Given the description of an element on the screen output the (x, y) to click on. 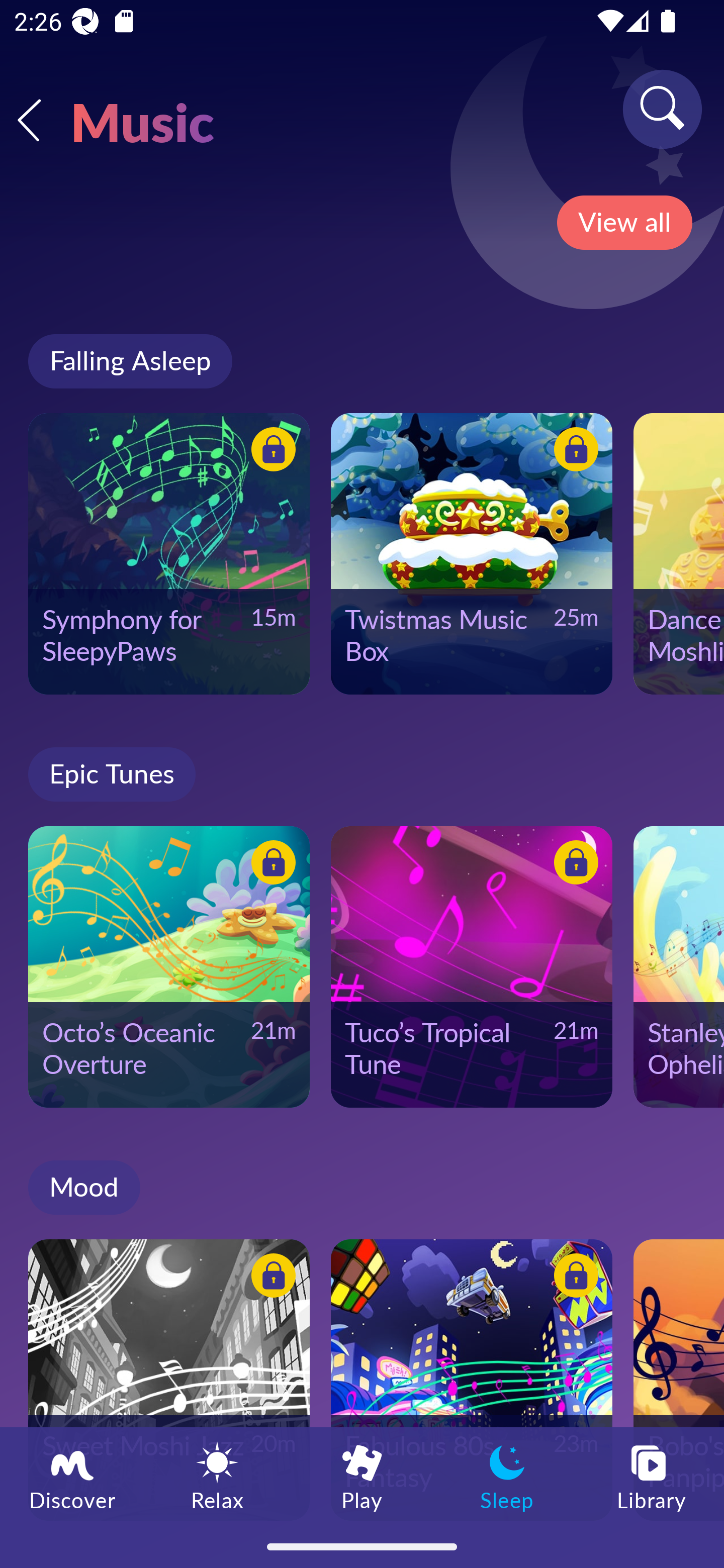
View all (624, 222)
Button (269, 451)
Featured Content Button Twistmas Music Box 25m (471, 553)
Button (573, 451)
Button (269, 865)
Featured Content Button Tuco’s Tropical Tune 21m (471, 966)
Button (573, 865)
Featured Content Button Sweet Moshi Jazz 20m (168, 1379)
Button (269, 1277)
Featured Content Button Fabulous 80s Fantasy 23m (471, 1379)
Button (573, 1277)
Discover (72, 1475)
Relax (216, 1475)
Play (361, 1475)
Library (651, 1475)
